Given the description of an element on the screen output the (x, y) to click on. 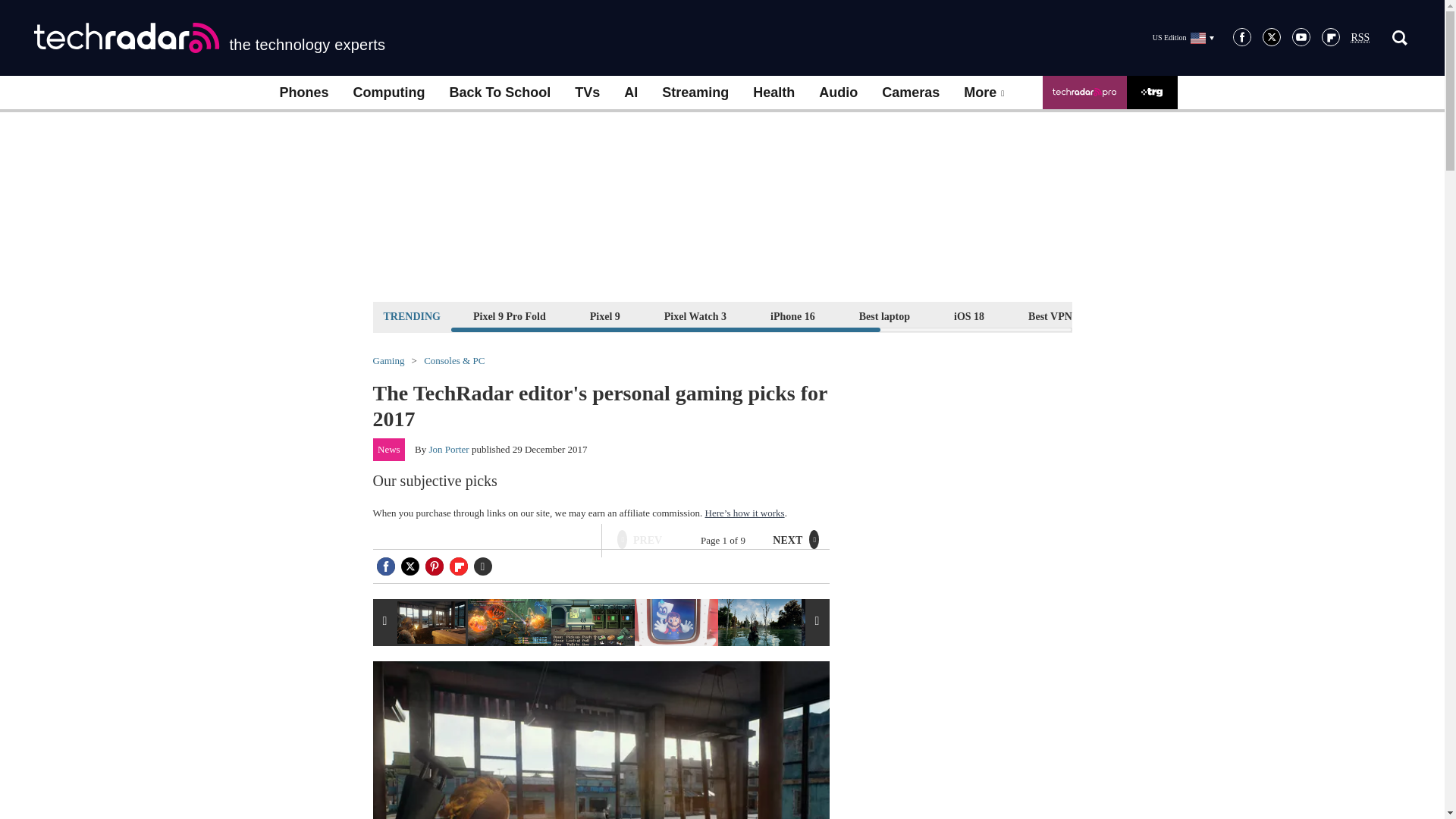
US Edition (1182, 37)
AI (630, 92)
Back To School (499, 92)
Health (773, 92)
Audio (837, 92)
Really Simple Syndication (1360, 37)
TVs (586, 92)
Phones (303, 92)
Cameras (910, 92)
the technology experts (209, 38)
